Given the description of an element on the screen output the (x, y) to click on. 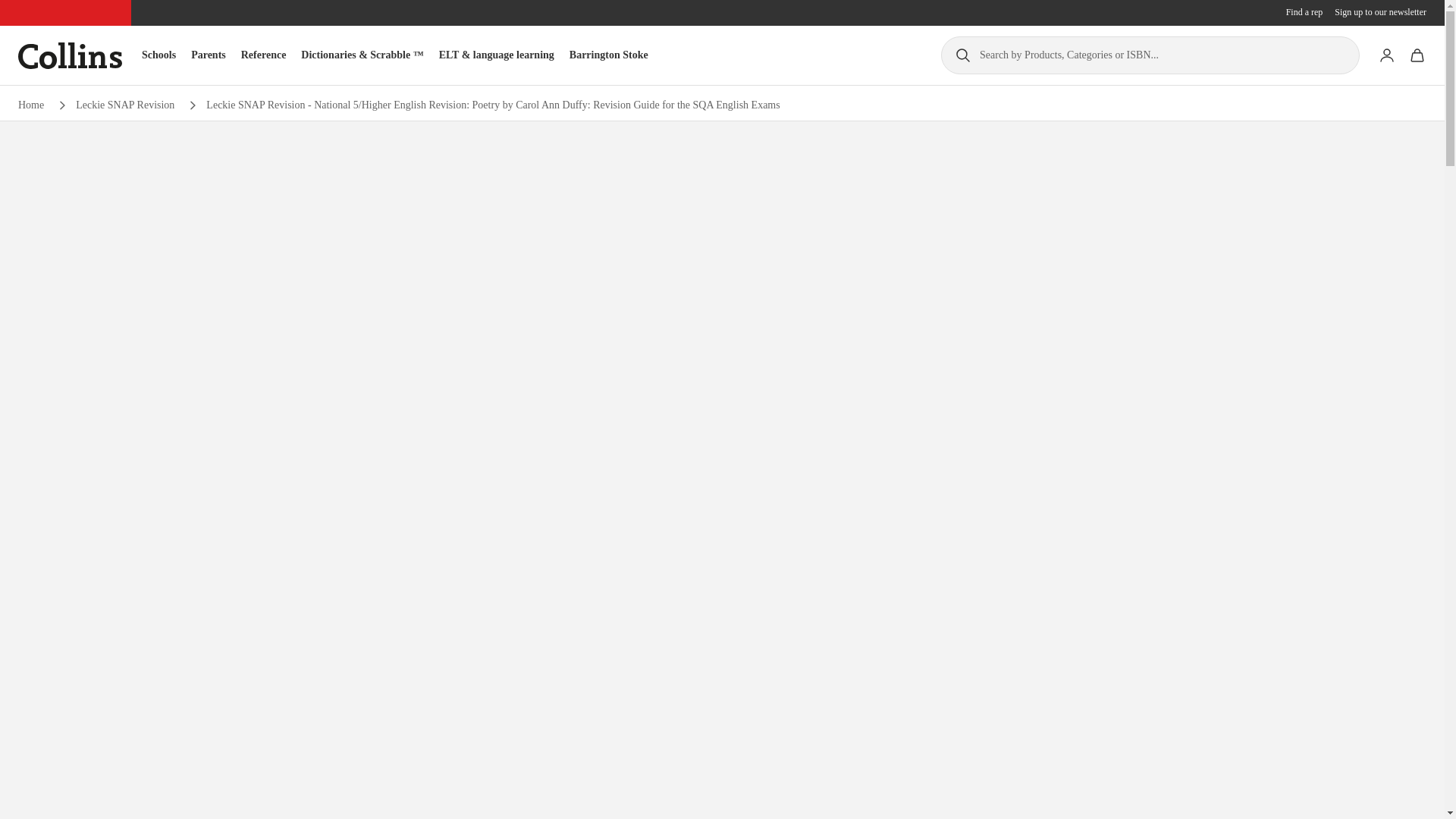
Toggle cart (1417, 55)
Find a rep (1304, 11)
Barrington Stoke (608, 55)
Read all about Leckie SNAP Revision (124, 105)
Parents (208, 55)
Schools (158, 55)
Home (30, 105)
Reference (264, 55)
Leckie SNAP Revision (124, 105)
Sign up to our newsletter (1380, 11)
Collins (69, 55)
Account (1386, 55)
